Given the description of an element on the screen output the (x, y) to click on. 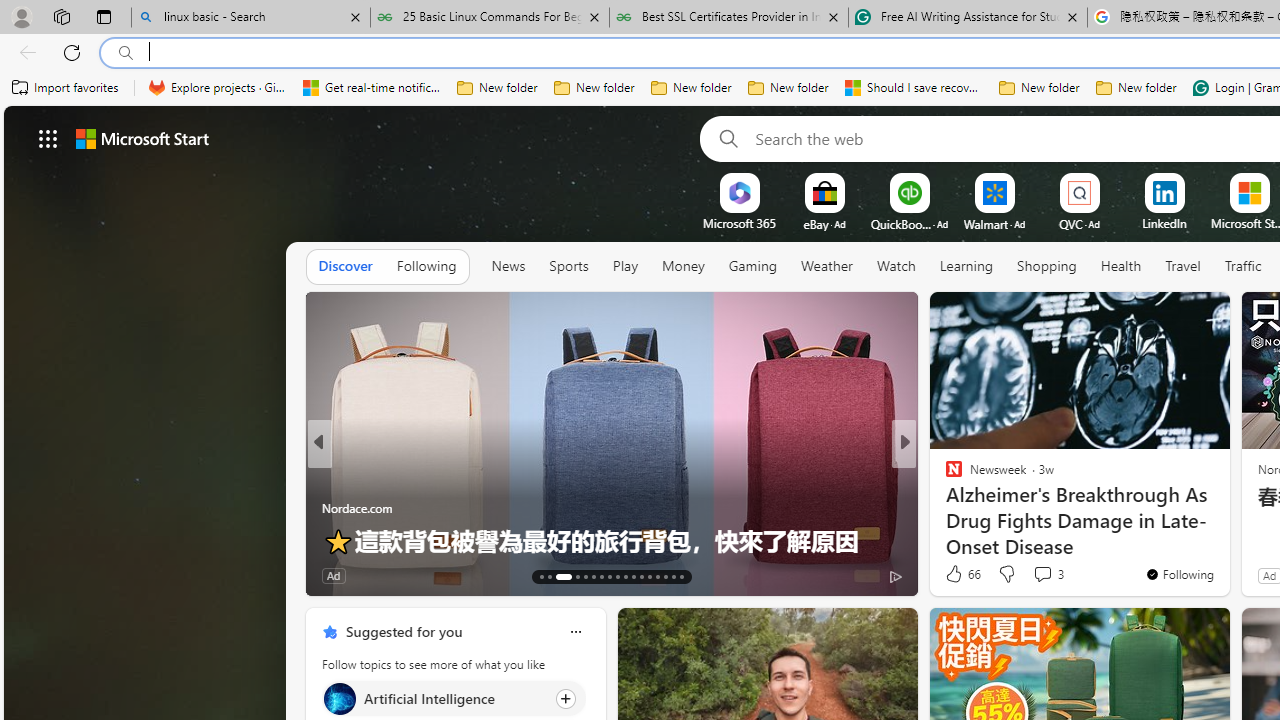
View comments 3 Comment (1042, 573)
Learning (965, 265)
Weather (826, 265)
328 Like (959, 574)
AutomationID: tab-20 (609, 576)
linux basic - Search (250, 17)
AutomationID: tab-24 (641, 576)
Start the conversation (1035, 574)
Free AI Writing Assistance for Students | Grammarly (967, 17)
Watch (896, 267)
View comments 16 Comment (1051, 574)
Dislike (1006, 574)
View comments 115 Comment (1042, 575)
